Given the description of an element on the screen output the (x, y) to click on. 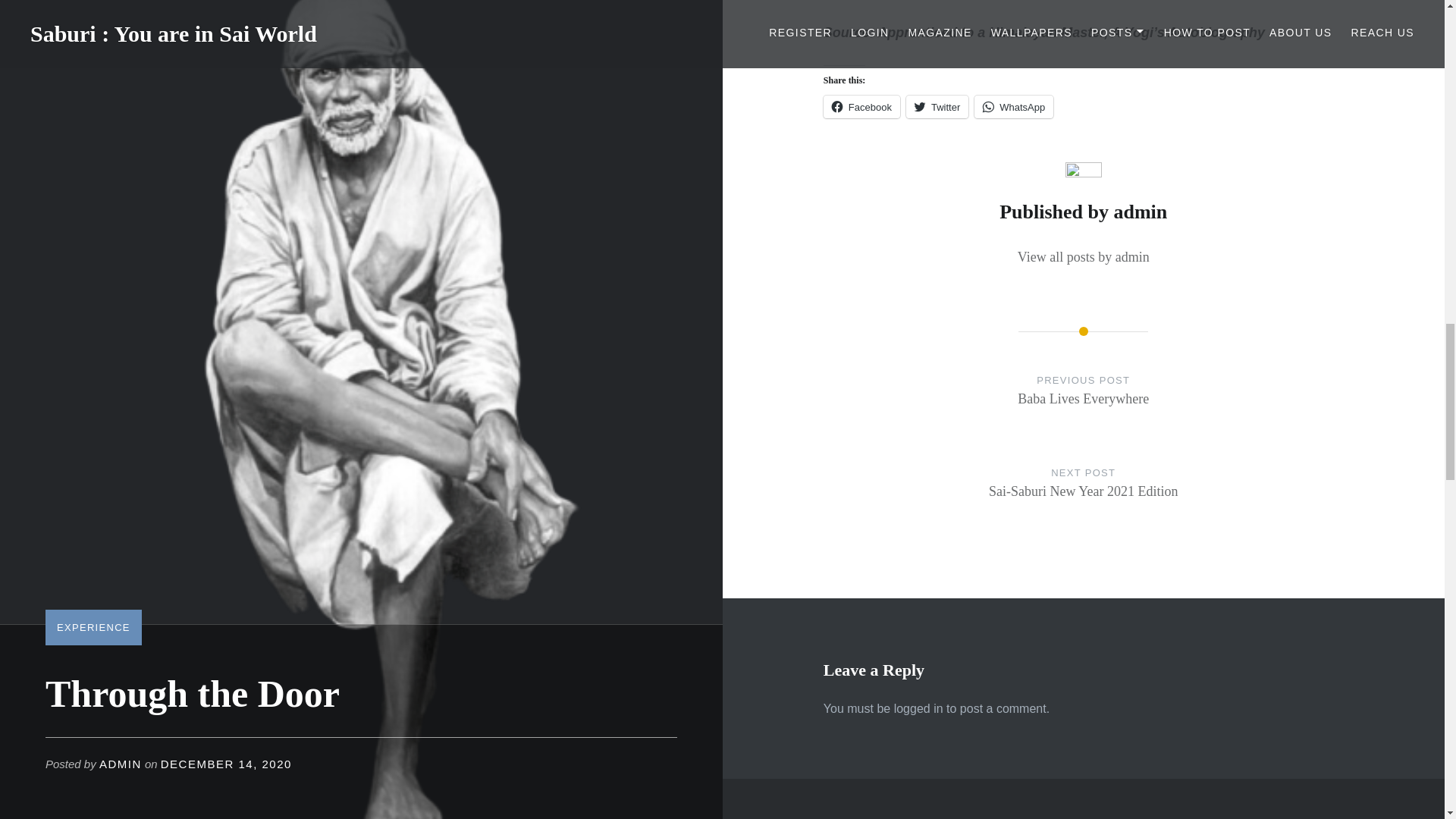
logged in (918, 707)
Click to share on WhatsApp (1083, 497)
View all posts by admin (1013, 106)
Click to share on Twitter (1083, 257)
WhatsApp (936, 106)
Click to share on Facebook (1013, 106)
Twitter (861, 106)
Facebook (936, 106)
